Given the description of an element on the screen output the (x, y) to click on. 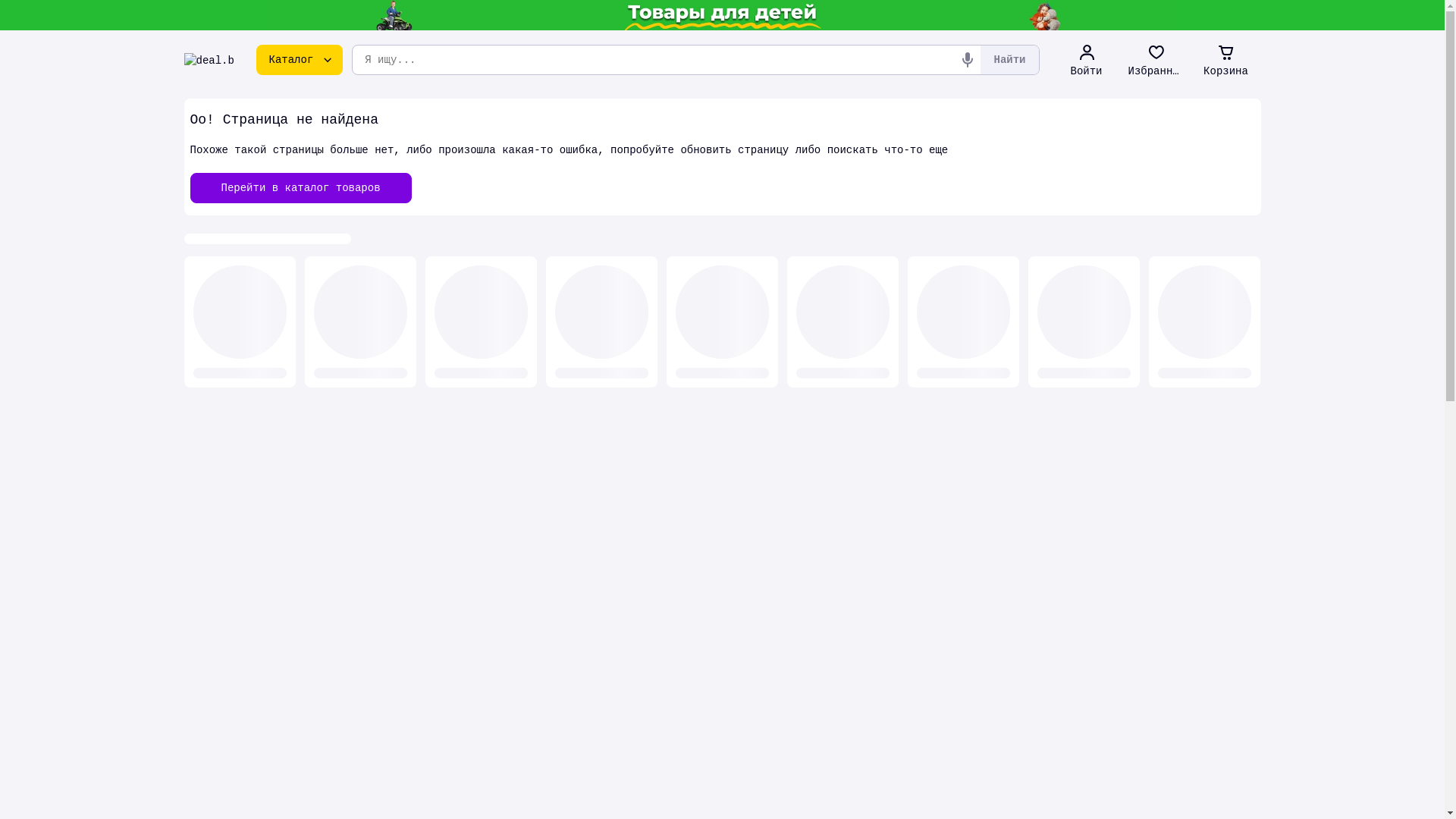
deal.by Element type: hover (208, 59)
